Given the description of an element on the screen output the (x, y) to click on. 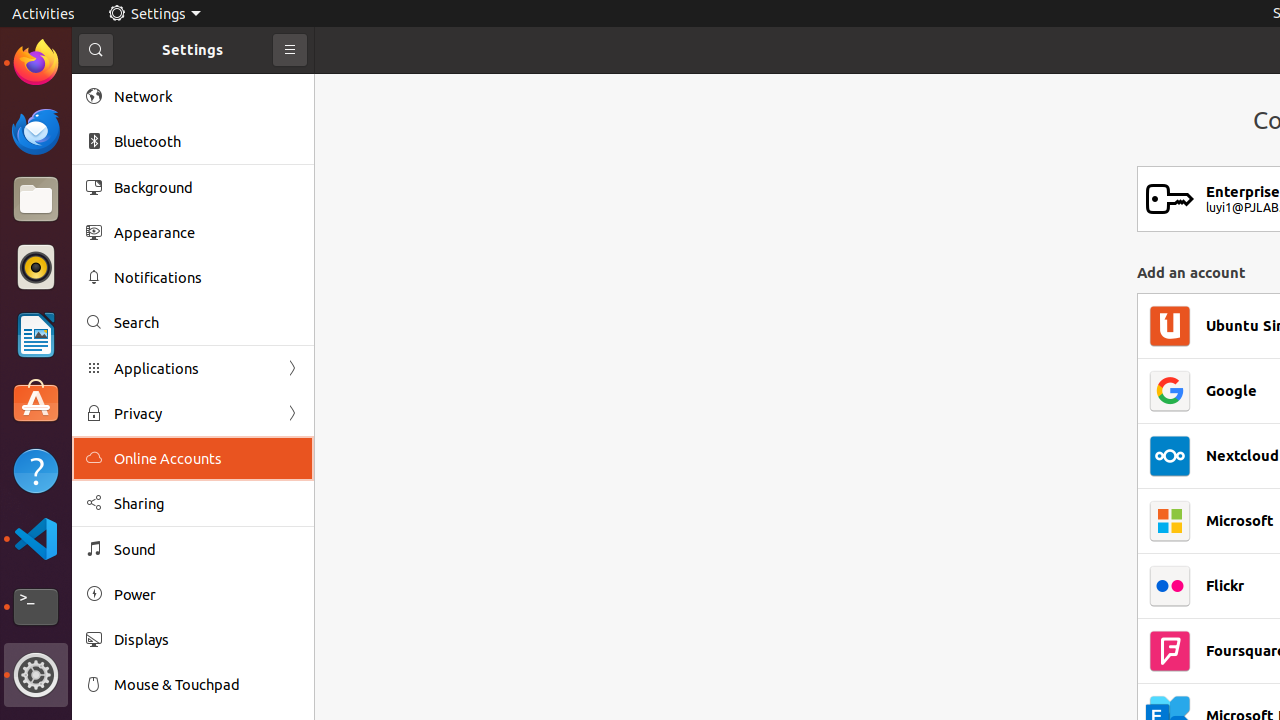
Forward Element type: icon (292, 413)
Settings Element type: menu (154, 13)
Power Element type: label (207, 594)
Search Element type: label (207, 322)
Sound Element type: label (207, 549)
